Given the description of an element on the screen output the (x, y) to click on. 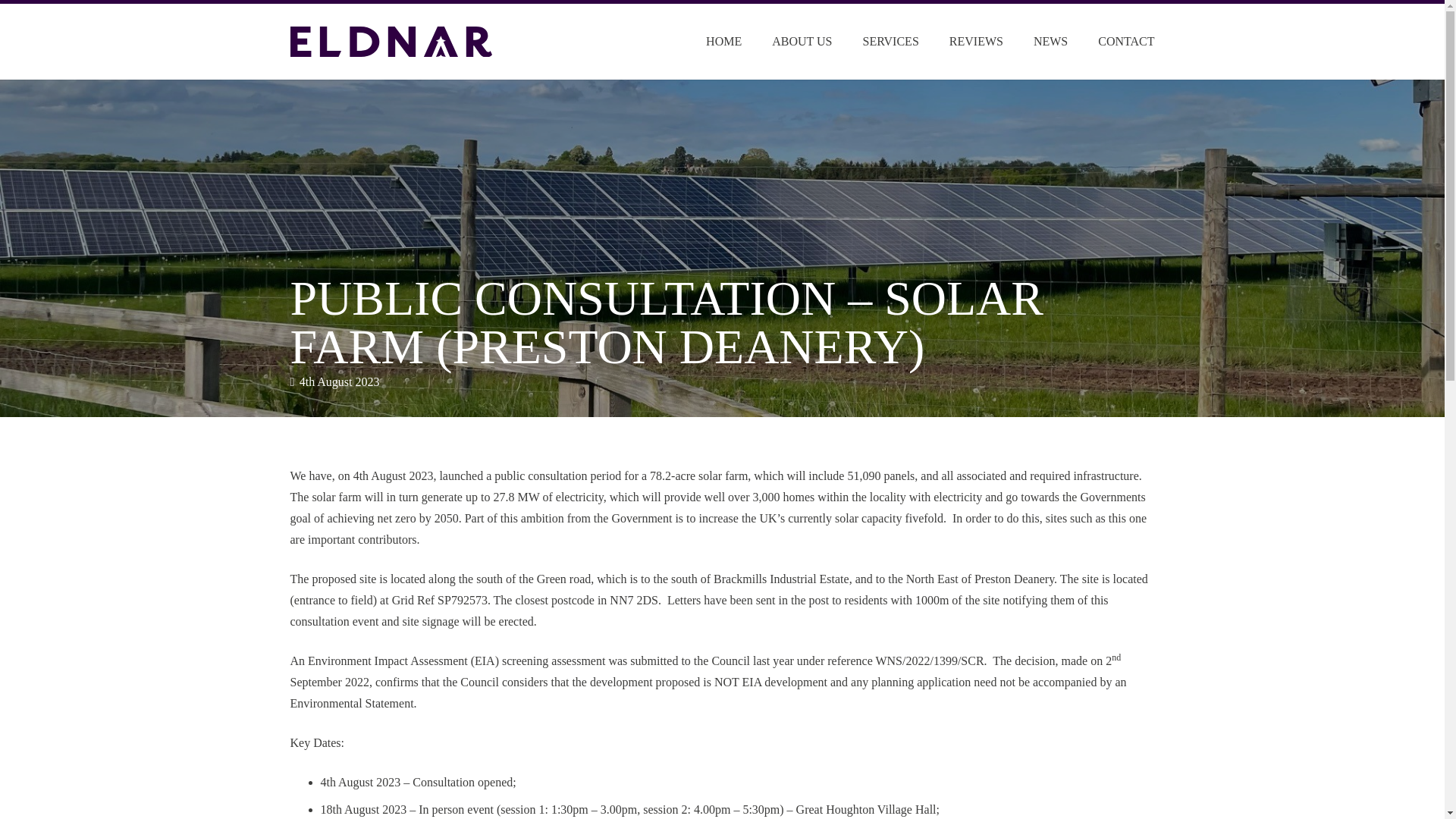
REVIEWS (975, 41)
SERVICES (890, 41)
NEWS (1050, 41)
HOME (723, 41)
CONTACT (1126, 41)
ABOUT US (802, 41)
